Given the description of an element on the screen output the (x, y) to click on. 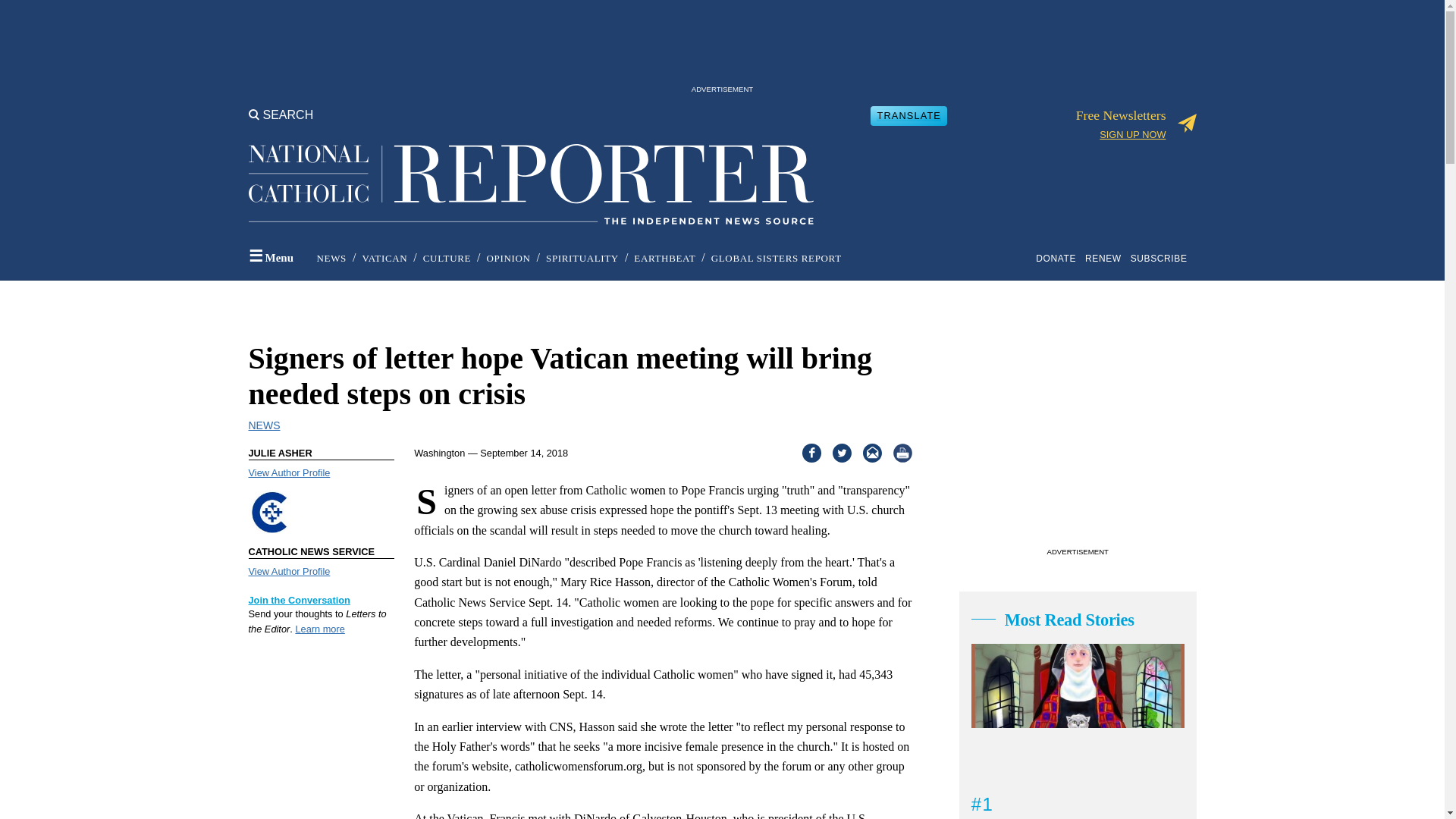
TRANSLATE (908, 115)
CULTURE (446, 257)
SIGN UP NOW (1132, 134)
NEWS (331, 257)
OPINION (508, 257)
VATICAN (384, 257)
GLOBAL SISTERS REPORT (776, 257)
RENEW (1105, 257)
Send a letter to the editor (319, 628)
EARTHBEAT (664, 257)
